Given the description of an element on the screen output the (x, y) to click on. 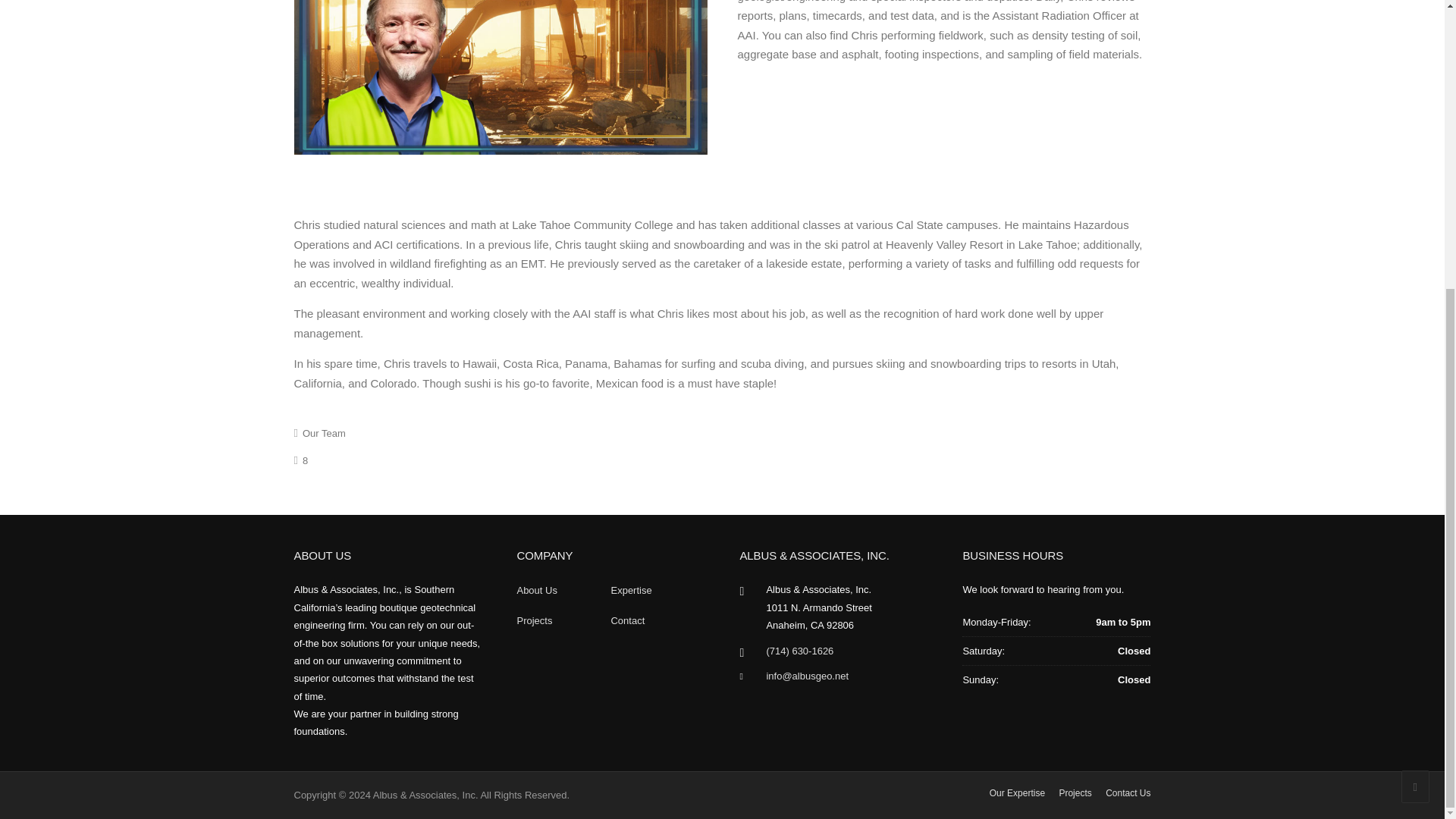
Projects (1074, 792)
Our Team (324, 432)
Chris Wright, Technical Services Manager (500, 77)
Expertise (630, 590)
Projects (533, 620)
About Us (536, 590)
Our Expertise (1017, 792)
Contact Us (1127, 792)
Contact (627, 620)
